Given the description of an element on the screen output the (x, y) to click on. 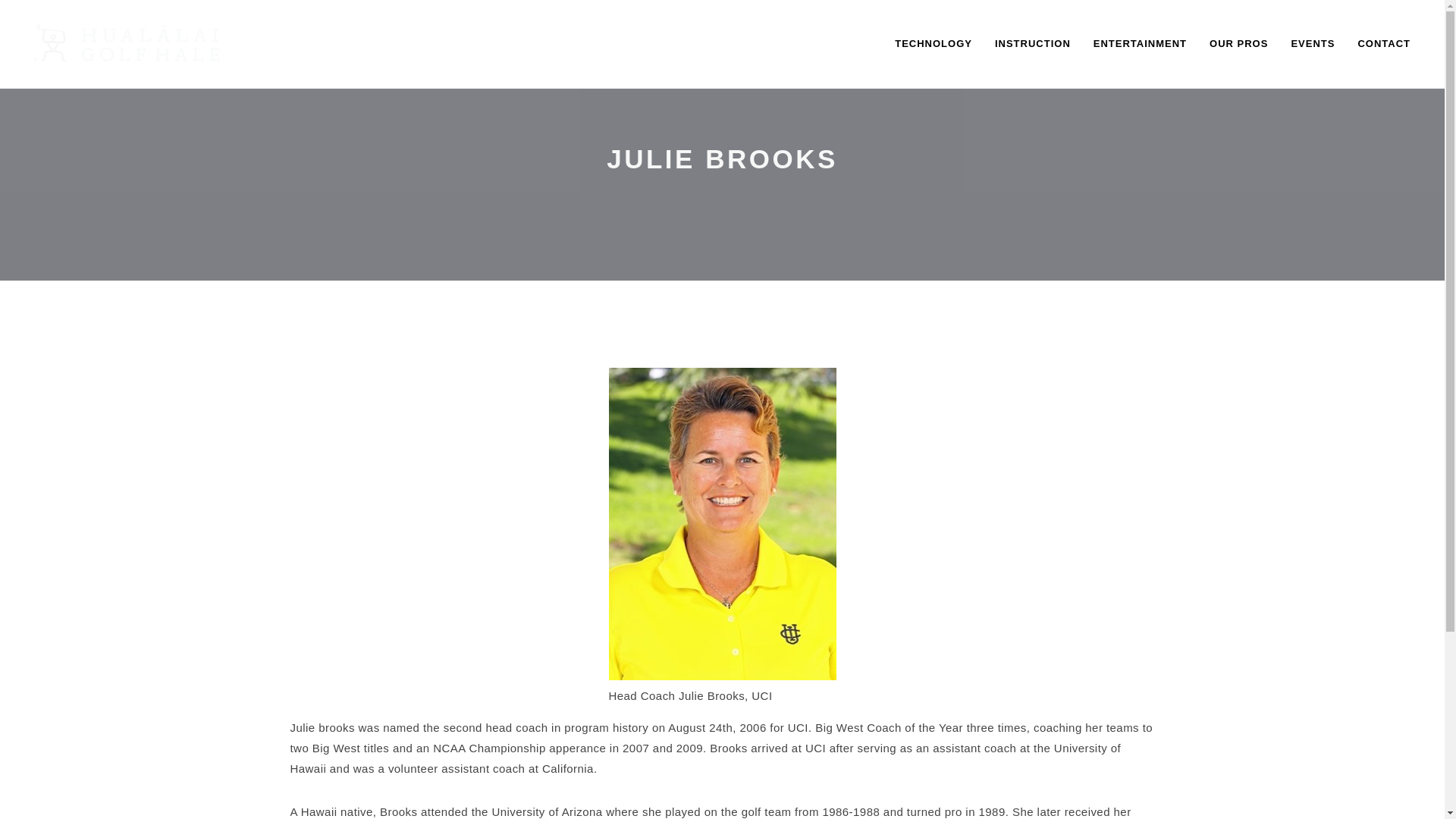
ENTERTAINMENT (1139, 43)
INSTRUCTION (1032, 43)
Hualalai Golf Hale (126, 40)
OUR PROS (1238, 43)
TECHNOLOGY (933, 43)
